Given the description of an element on the screen output the (x, y) to click on. 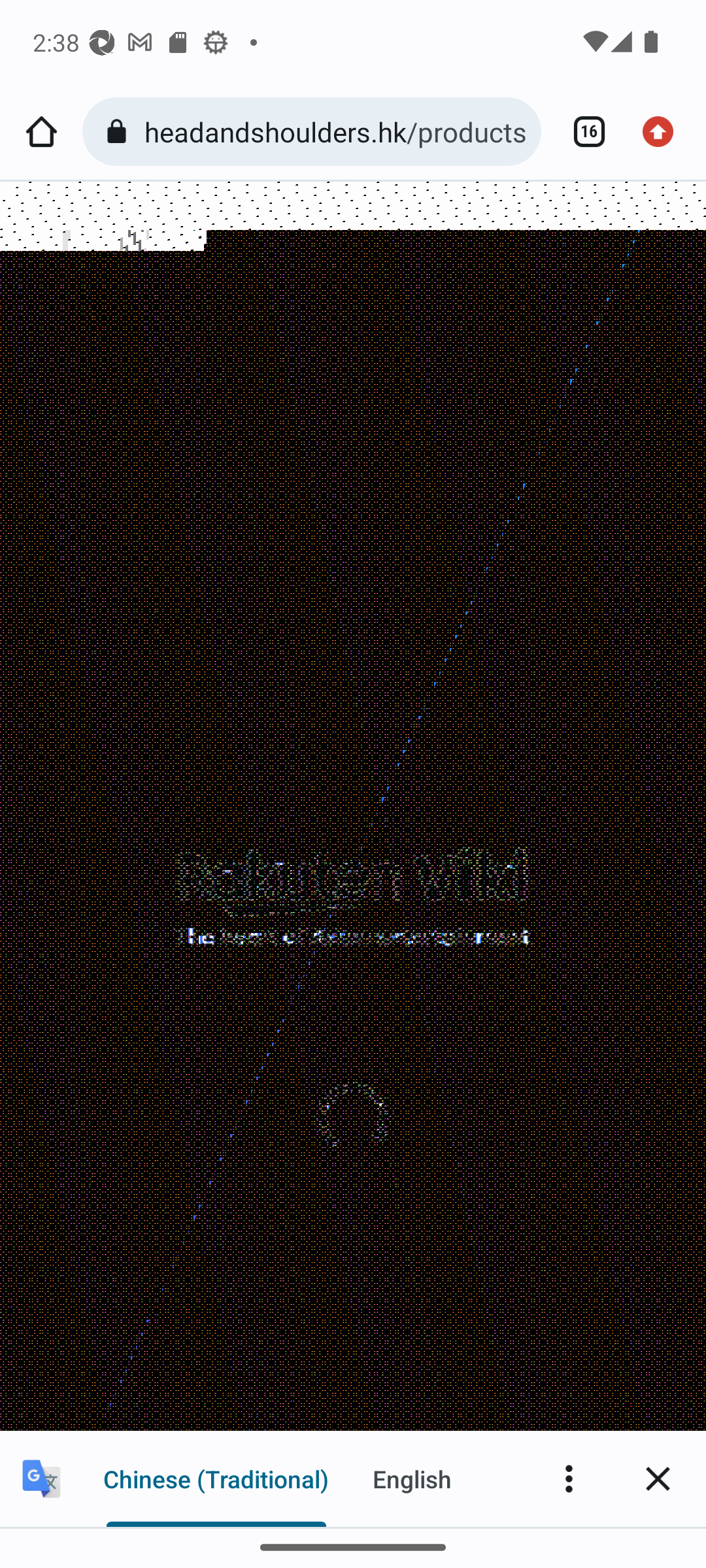
Home (41, 131)
Connection is secure (120, 131)
Switch or close tabs (582, 131)
Update available. More options (664, 131)
English (411, 1478)
More options (568, 1478)
Close (657, 1478)
